Given the description of an element on the screen output the (x, y) to click on. 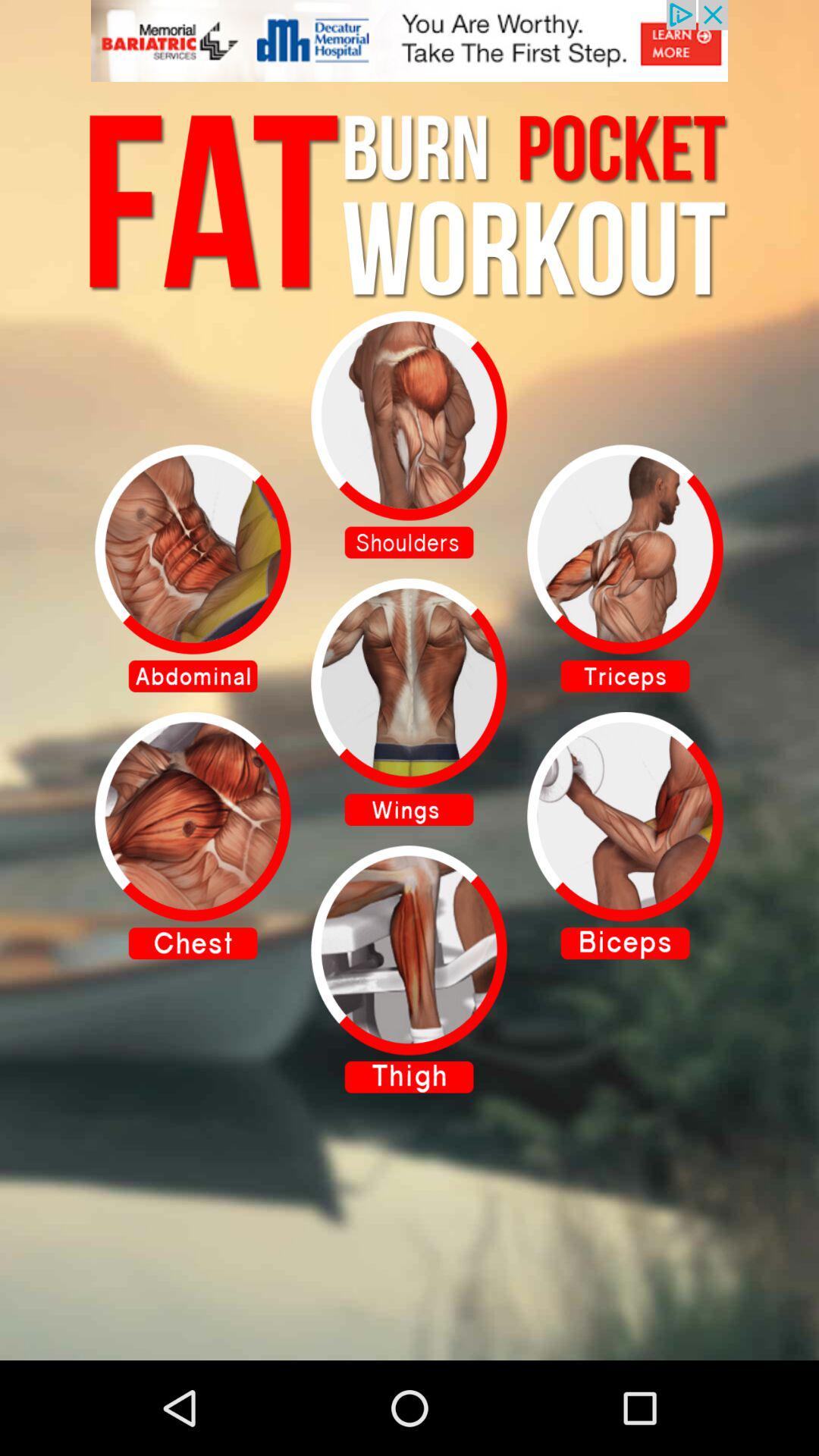
to view selected item (409, 434)
